Given the description of an element on the screen output the (x, y) to click on. 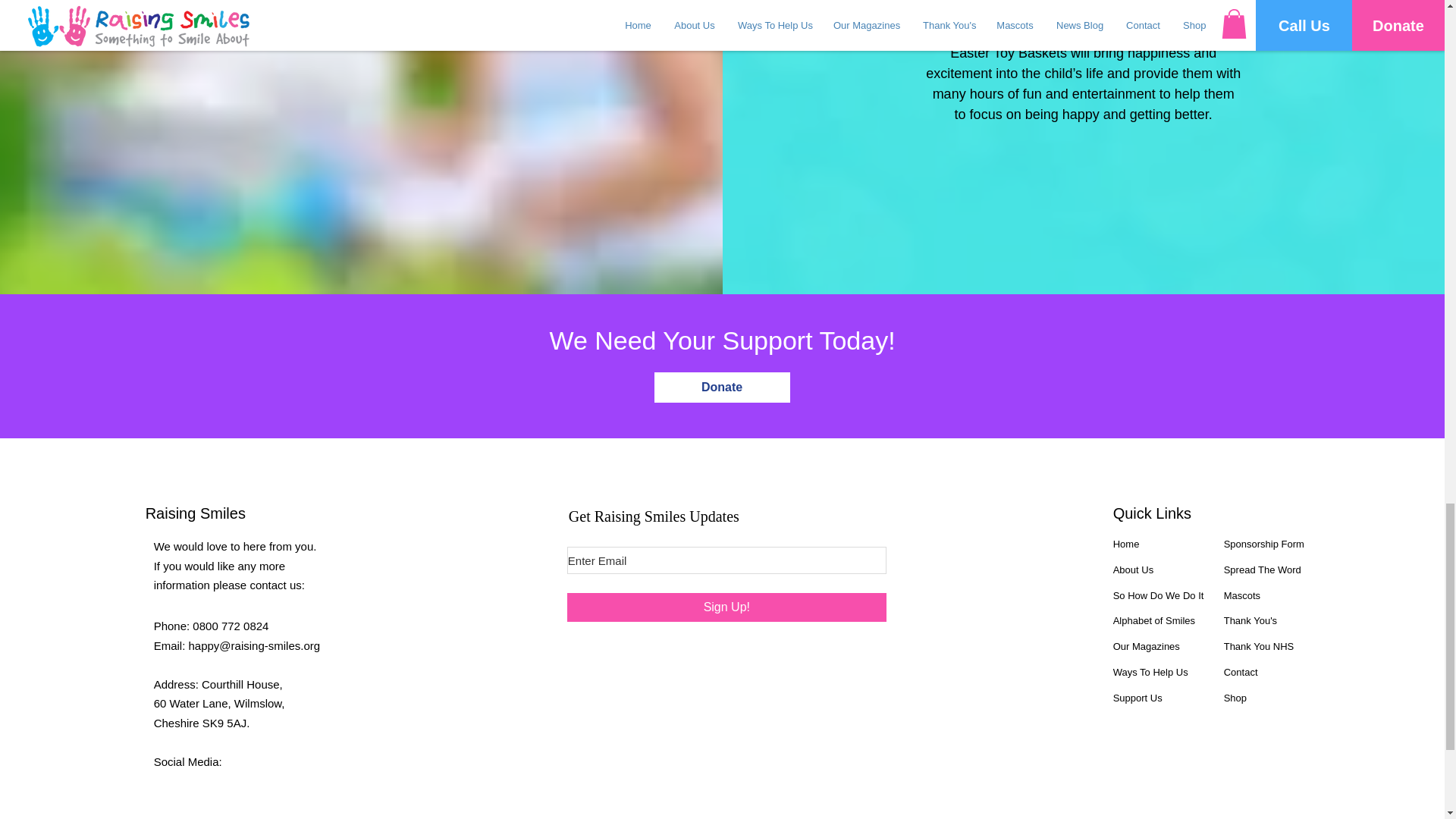
Home (1126, 543)
Sign Up! (726, 606)
Ways To Help Us (1150, 672)
Our Magazines (1146, 645)
So How Do We Do It (1158, 595)
Donate (721, 387)
Thank You's (1250, 620)
Alphabet of Smiles (1154, 620)
Mascots (1242, 595)
Spread The Word (1262, 569)
Contact (1240, 672)
Sponsorship Form (1264, 543)
About Us (1133, 569)
Thank You NHS (1259, 645)
Support Us (1137, 697)
